Given the description of an element on the screen output the (x, y) to click on. 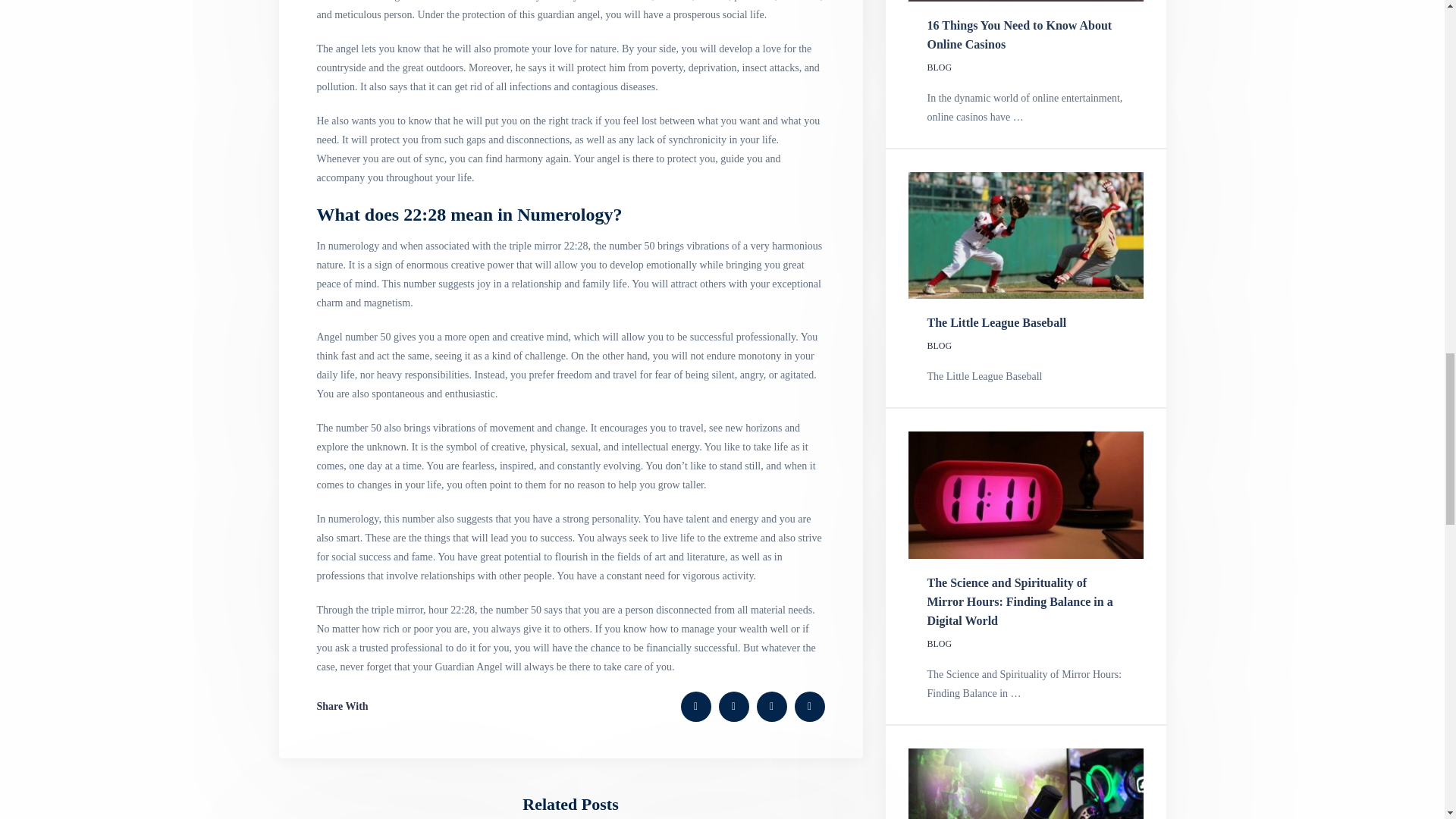
BLOG (939, 67)
BLOG (939, 345)
The Little League Baseball (997, 322)
BLOG (939, 643)
16 Things You Need to Know About Online Casinos (1019, 34)
